Given the description of an element on the screen output the (x, y) to click on. 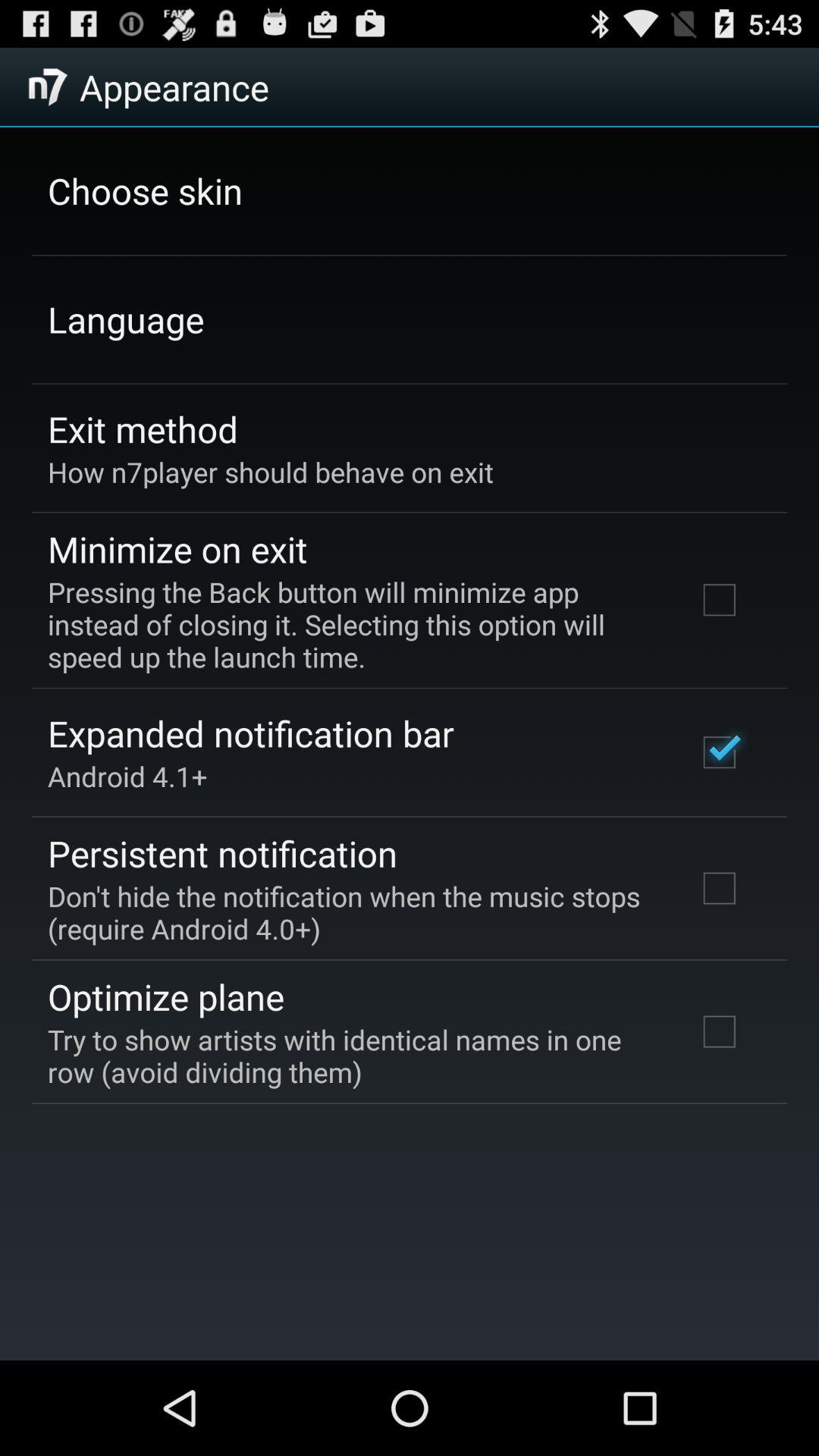
turn off the icon below the pressing the back (250, 733)
